Given the description of an element on the screen output the (x, y) to click on. 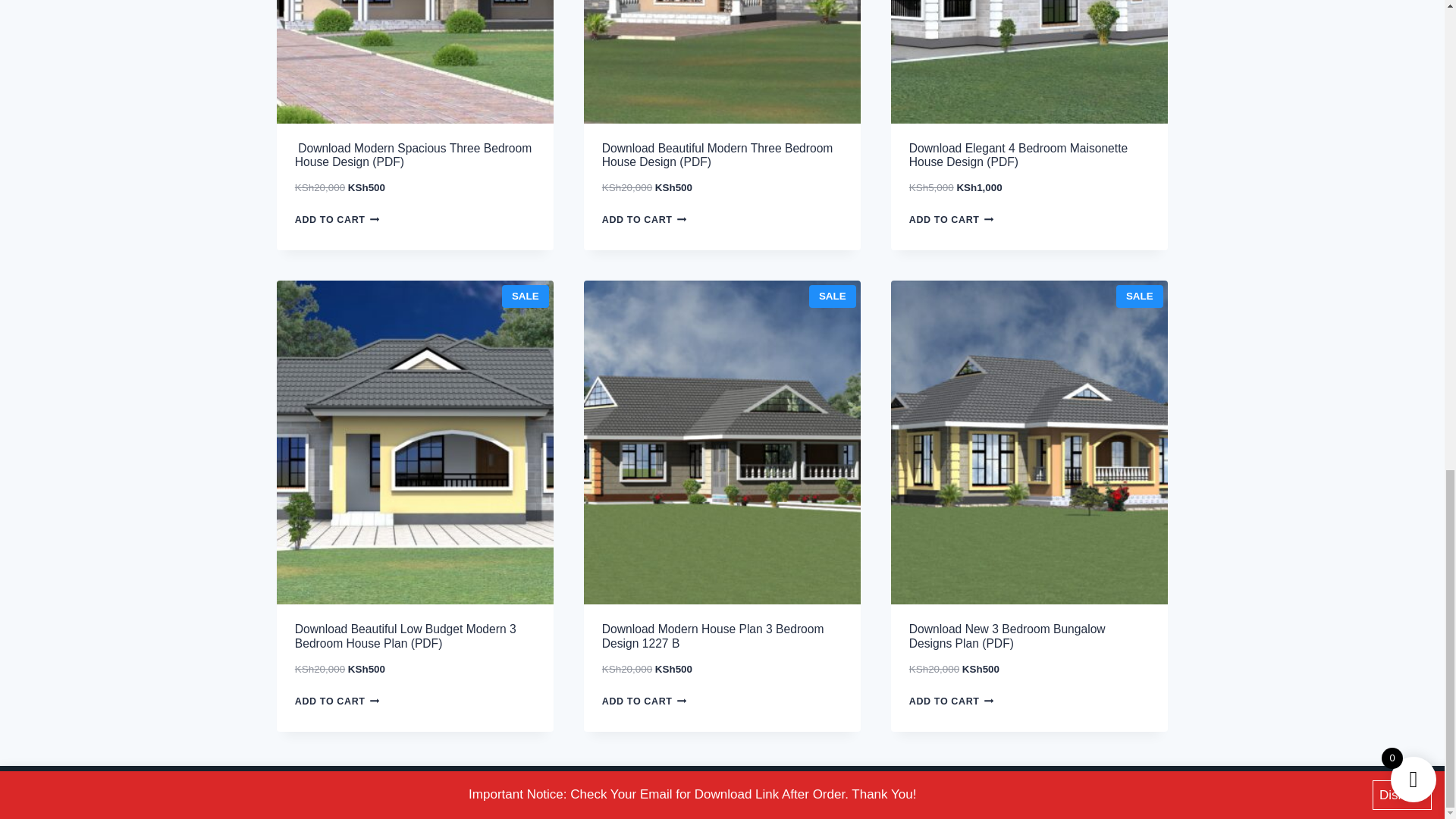
ADD TO CART (341, 700)
Elegant 4 Bedroom Maisonette House Design (1029, 61)
ADD TO CART (648, 220)
ADD TO CART (341, 220)
ADD TO CART (955, 220)
